Given the description of an element on the screen output the (x, y) to click on. 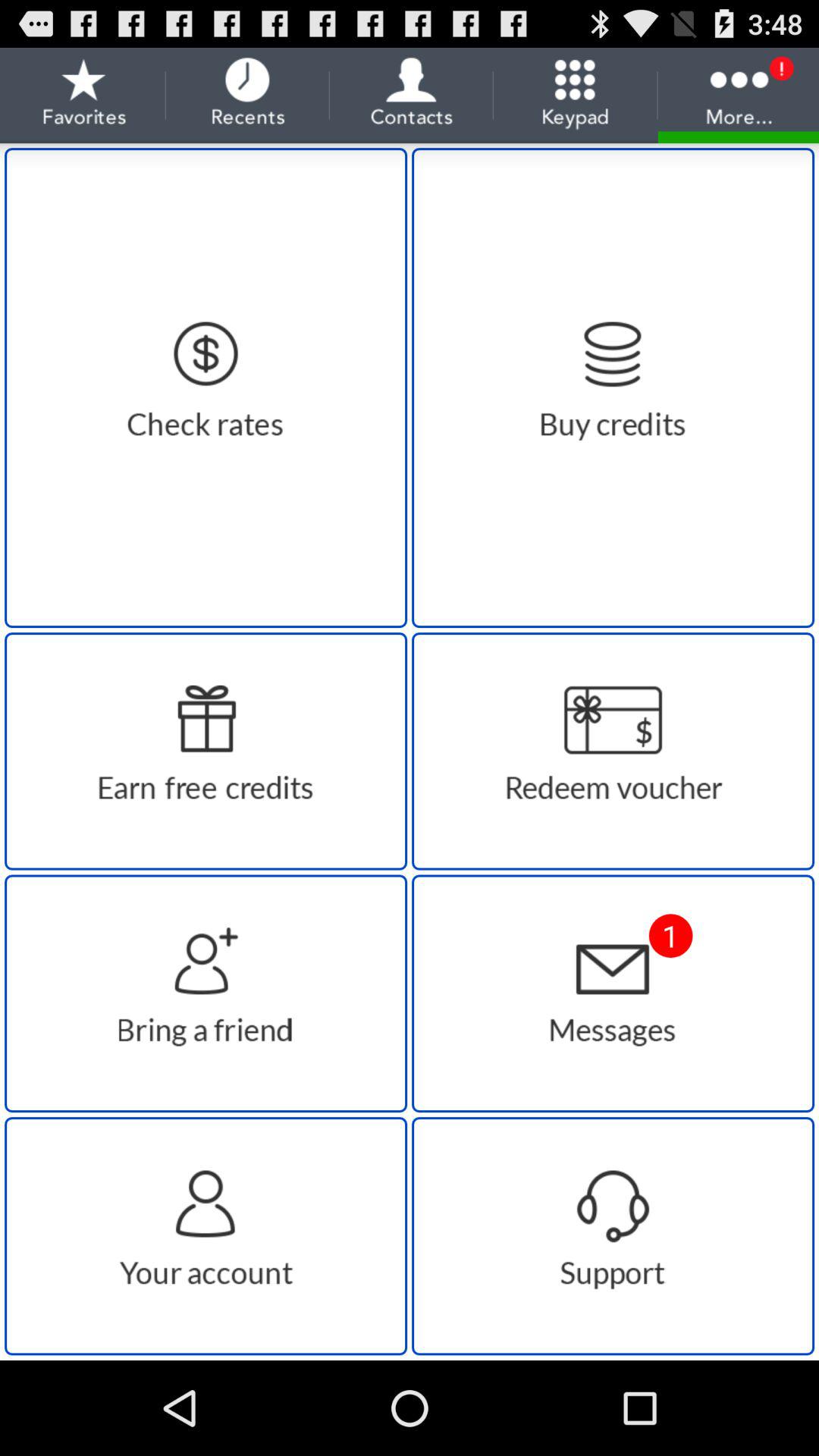
support (612, 1236)
